Given the description of an element on the screen output the (x, y) to click on. 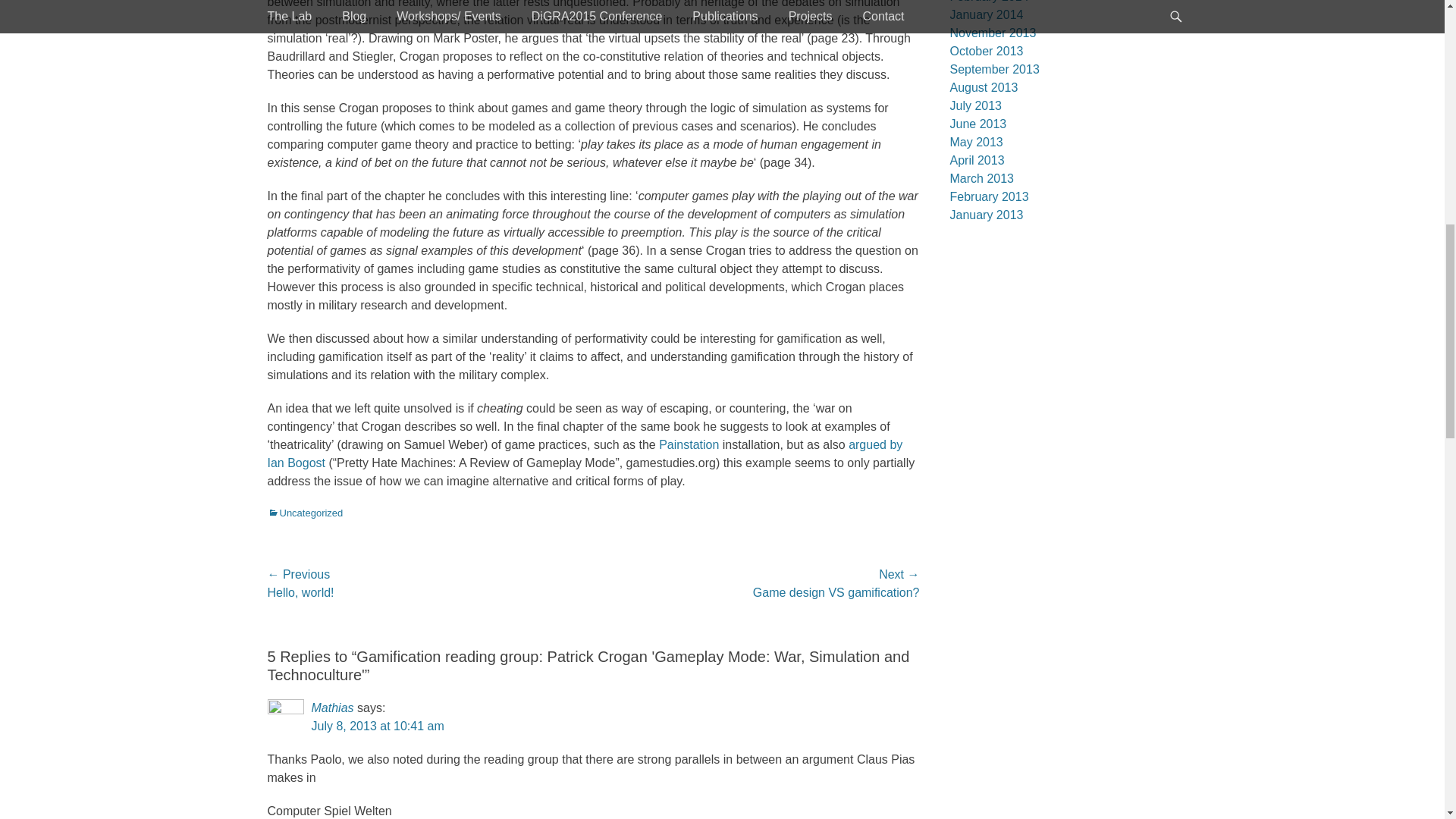
argued by Ian Bogost (584, 453)
Uncategorized (304, 511)
Mathias (332, 707)
Painstation (690, 444)
July 8, 2013 at 10:41 am (377, 725)
